Given the description of an element on the screen output the (x, y) to click on. 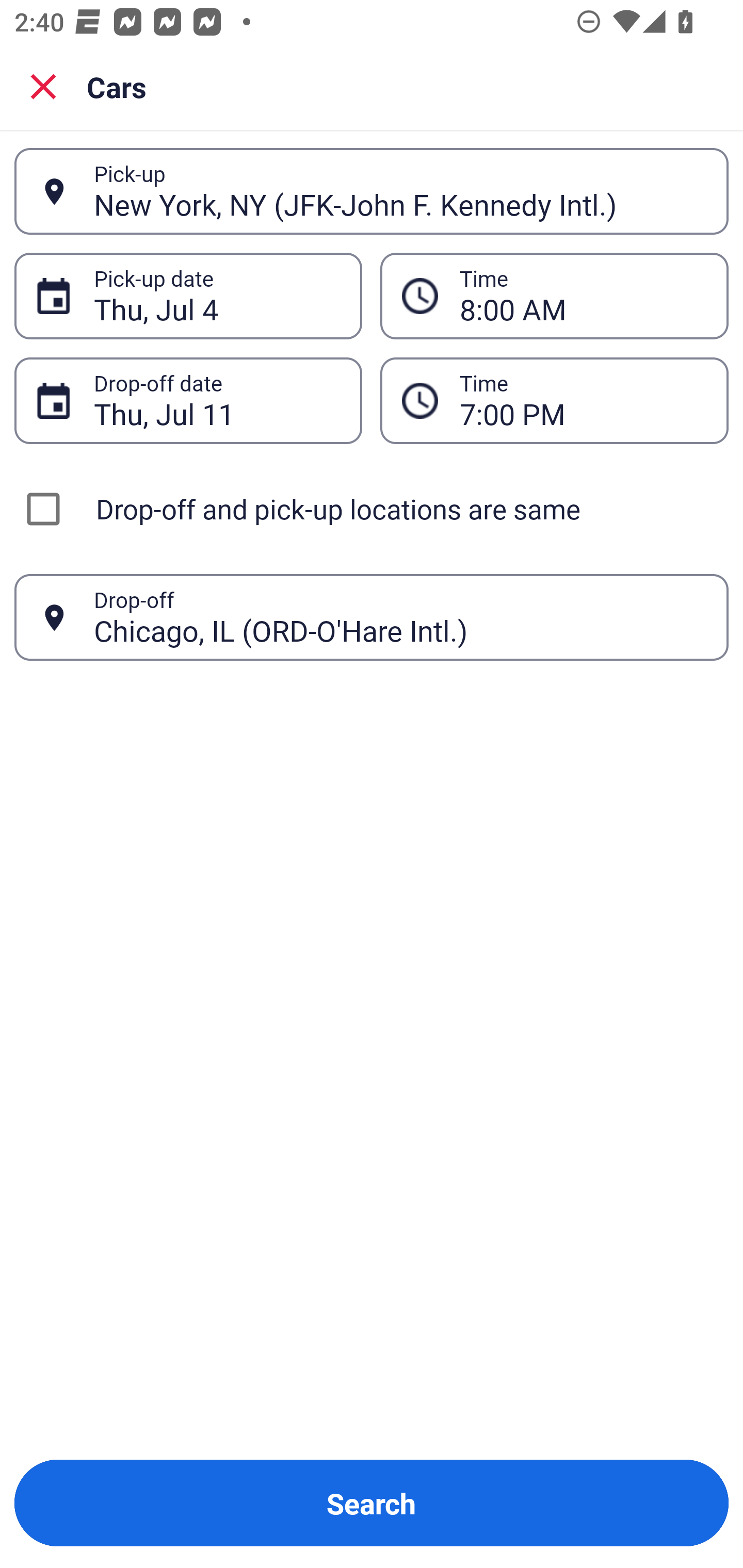
Close search screen (43, 86)
New York, NY (JFK-John F. Kennedy Intl.) Pick-up (371, 191)
New York, NY (JFK-John F. Kennedy Intl.) (399, 191)
Thu, Jul 4 Pick-up date (188, 295)
8:00 AM (554, 295)
Thu, Jul 4 (216, 296)
8:00 AM (582, 296)
Thu, Jul 11 Drop-off date (188, 400)
7:00 PM (554, 400)
Thu, Jul 11 (216, 400)
7:00 PM (582, 400)
Drop-off and pick-up locations are same (371, 508)
Chicago, IL (ORD-O'Hare Intl.) Drop-off (371, 616)
Chicago, IL (ORD-O'Hare Intl.) (399, 616)
Search Button Search (371, 1502)
